Given the description of an element on the screen output the (x, y) to click on. 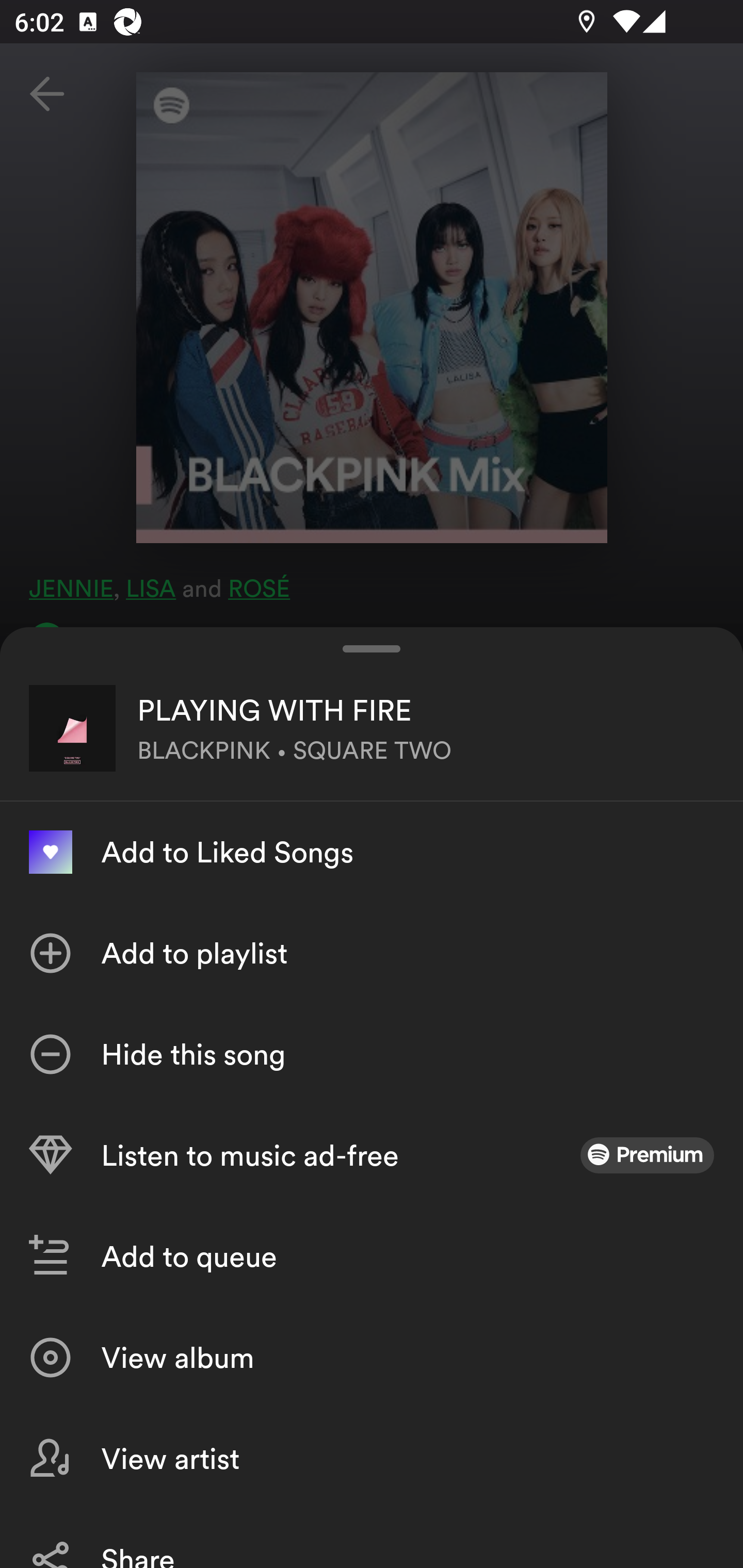
Add to Liked Songs (371, 852)
Add to playlist (371, 953)
Hide this song (371, 1054)
Listen to music ad-free (371, 1155)
Add to queue (371, 1256)
View album (371, 1357)
View artist (371, 1458)
Share (371, 1538)
